Given the description of an element on the screen output the (x, y) to click on. 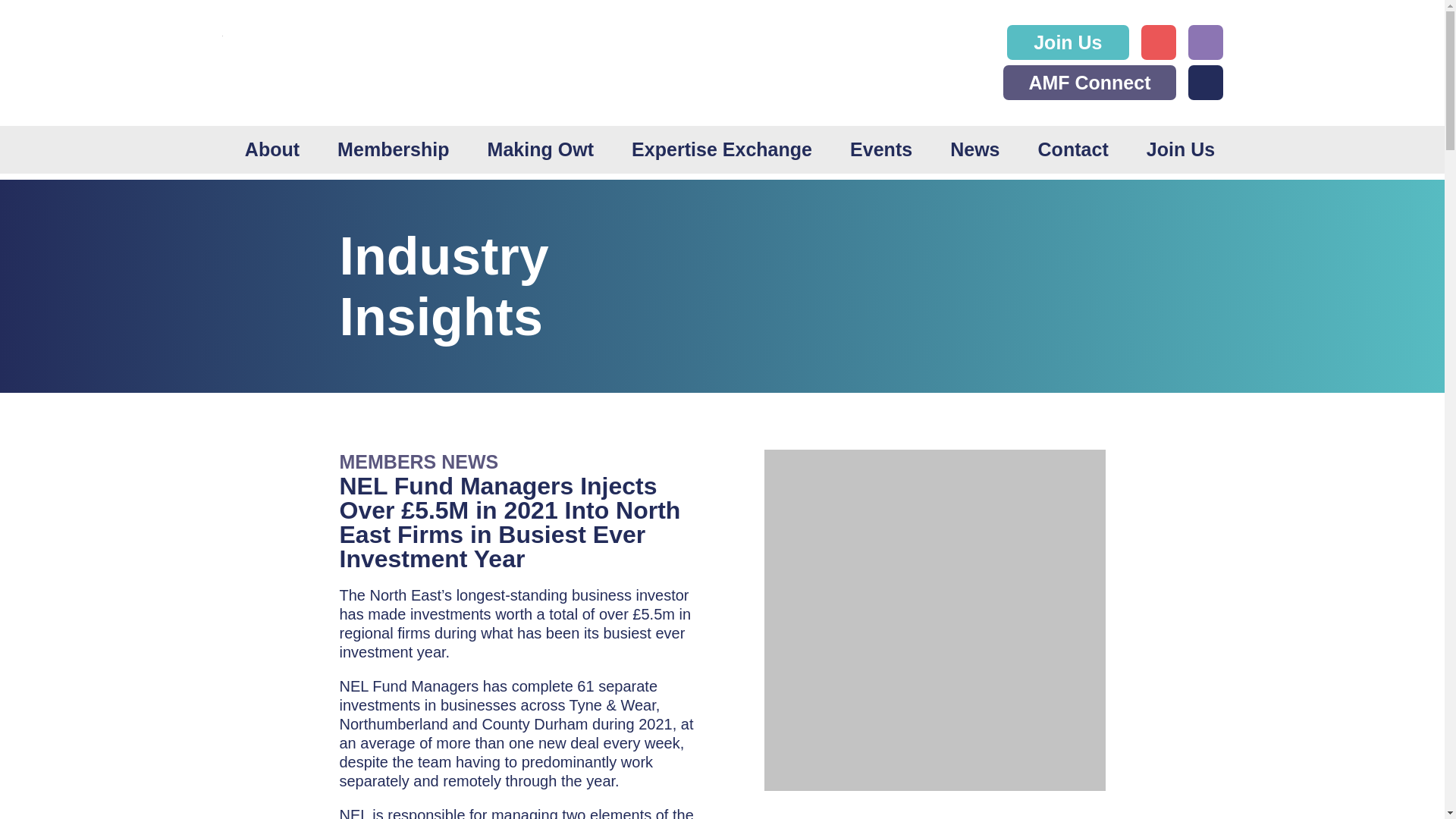
News (974, 148)
Membership (392, 148)
Expertise Exchange (721, 148)
Contact (1073, 148)
About (271, 148)
Making Owt (540, 148)
Join Us (1067, 42)
Events (881, 148)
AMF Connect (1088, 82)
Join Us (1180, 148)
